Given the description of an element on the screen output the (x, y) to click on. 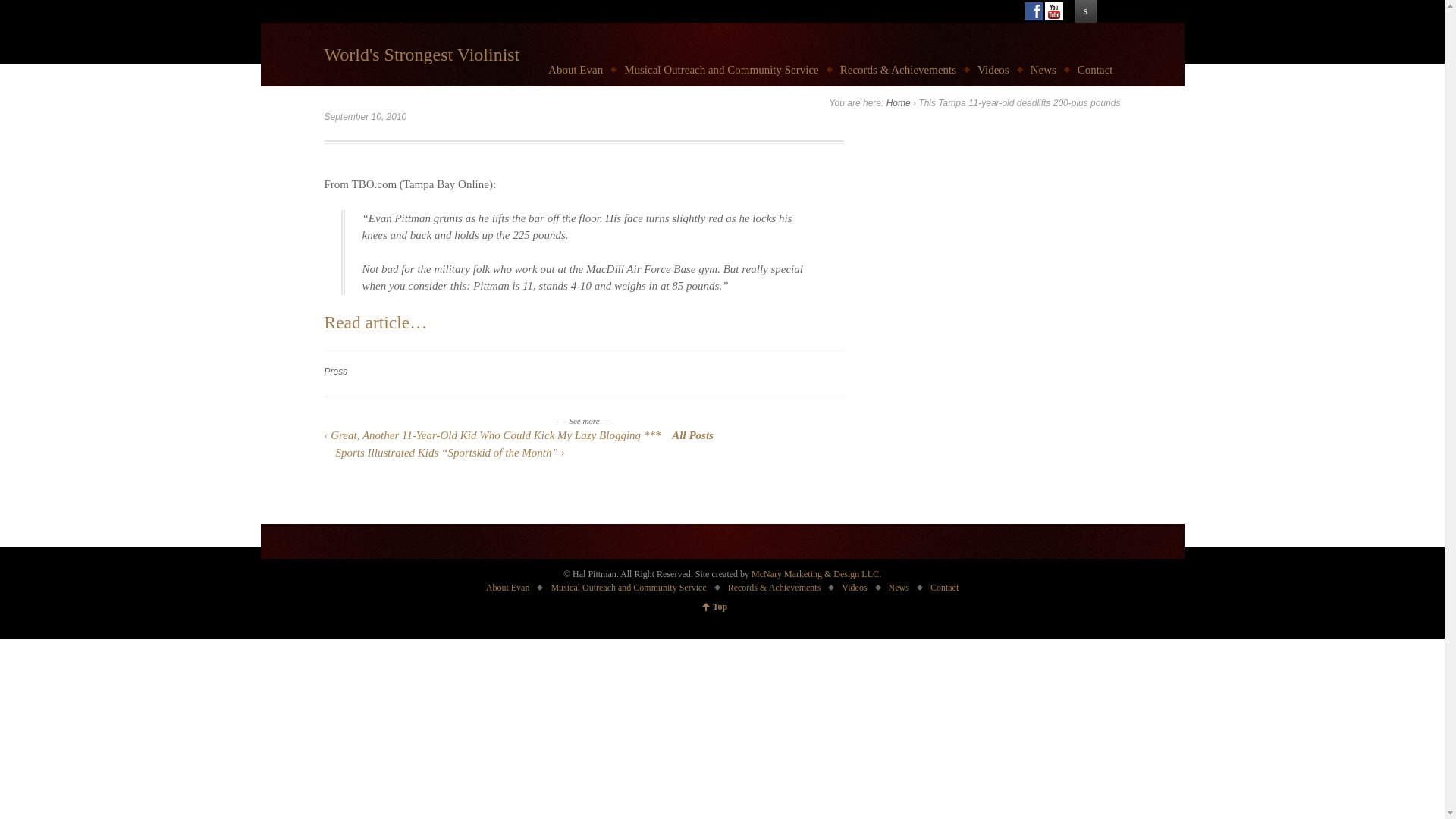
Musical Outreach and Community Service (721, 70)
Press (335, 371)
Go back to the homepage (421, 54)
About Evan (575, 70)
Musical Outreach and Community Service (628, 587)
All Posts (692, 435)
About Evan (508, 587)
Videos (854, 587)
Contact (944, 587)
Home (898, 102)
World's Strongest Violinist (421, 54)
Contact (1095, 70)
News (1043, 70)
Videos (992, 70)
News (898, 587)
